Given the description of an element on the screen output the (x, y) to click on. 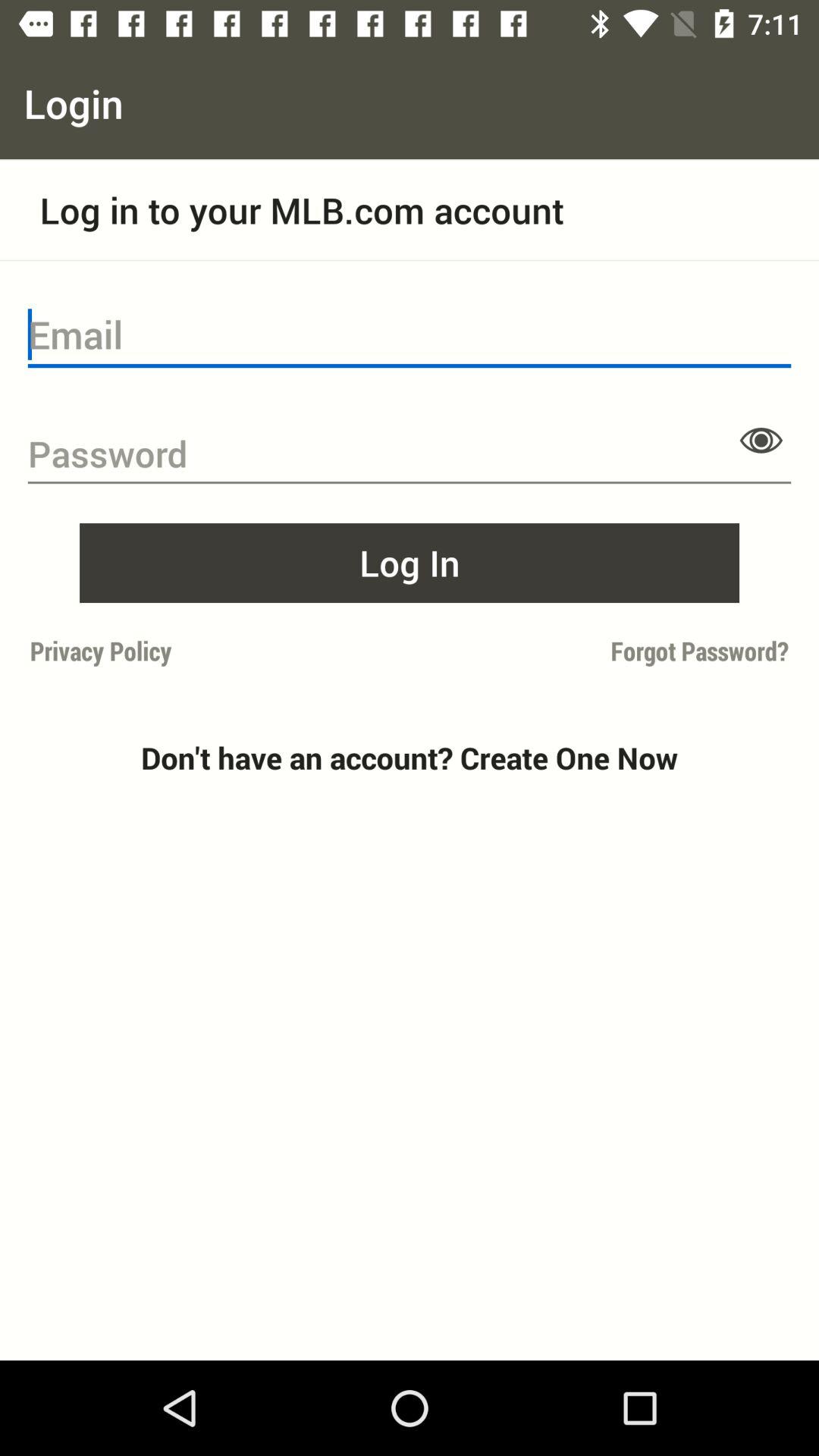
turn off the don t have icon (409, 757)
